Given the description of an element on the screen output the (x, y) to click on. 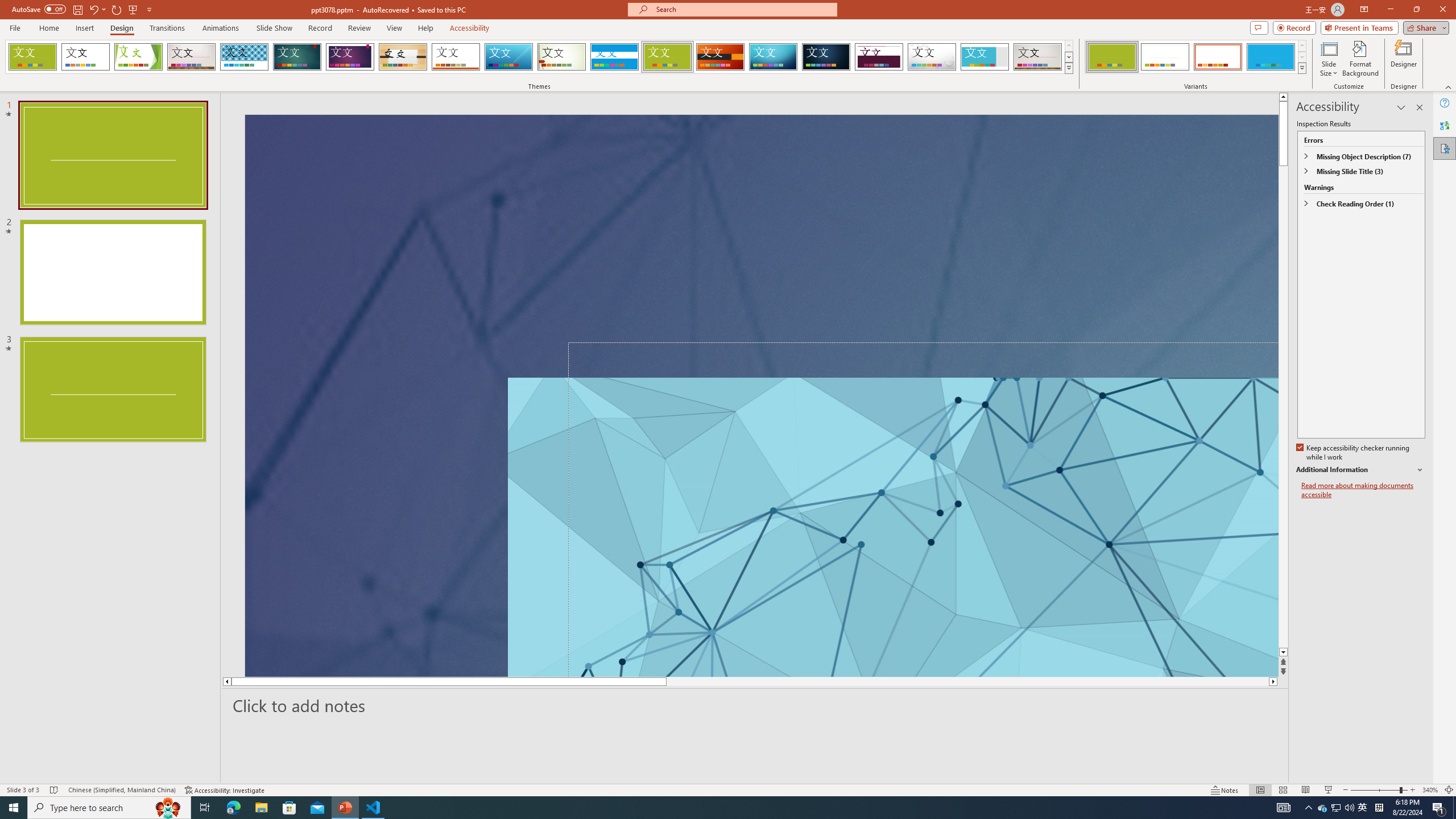
Integral (244, 56)
Format Background (1360, 58)
Basis Variant 3 (1217, 56)
Damask (826, 56)
Berlin (720, 56)
Title TextBox (874, 484)
